Given the description of an element on the screen output the (x, y) to click on. 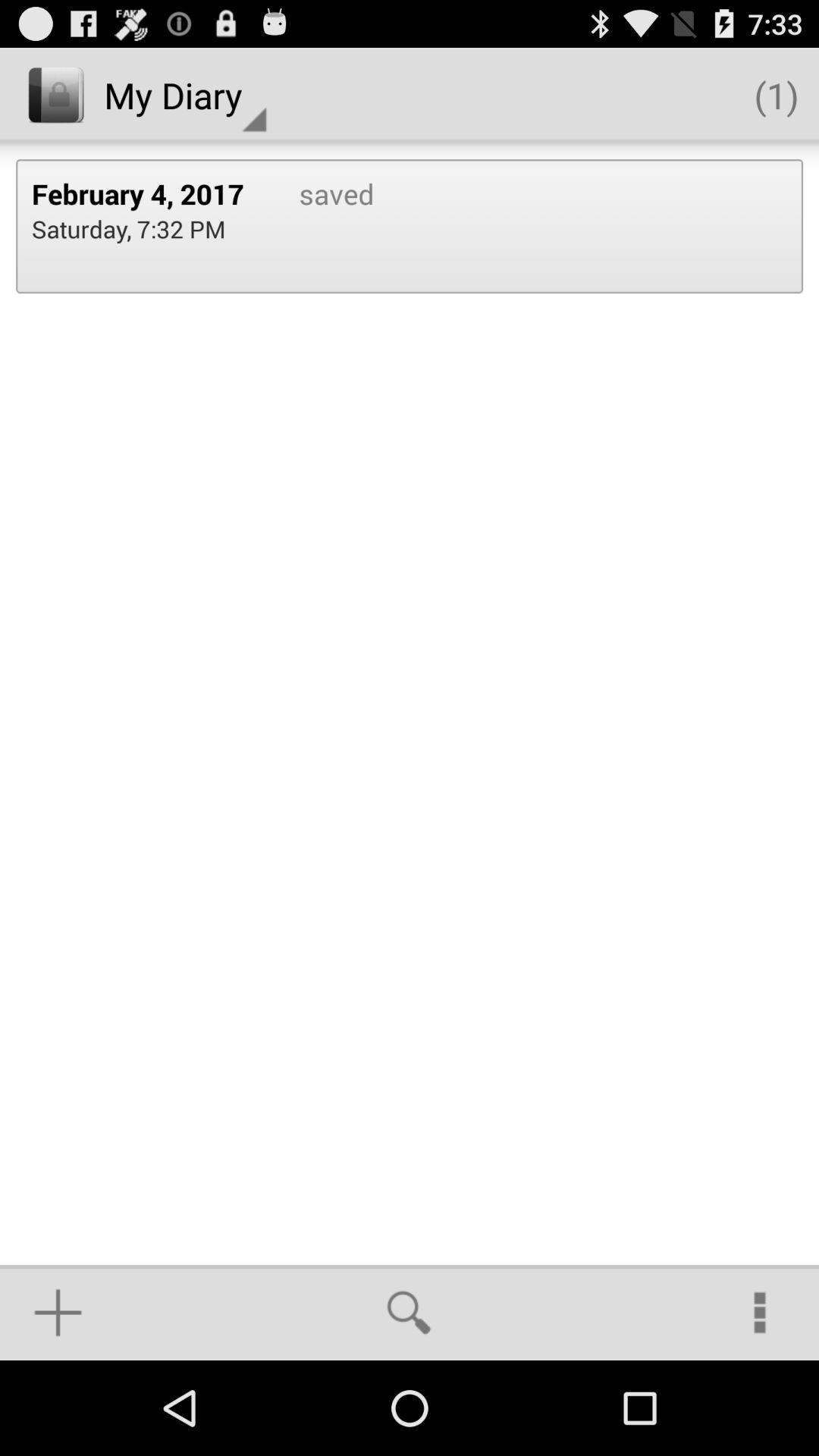
open app below saturday 7 32 (58, 1312)
